Given the description of an element on the screen output the (x, y) to click on. 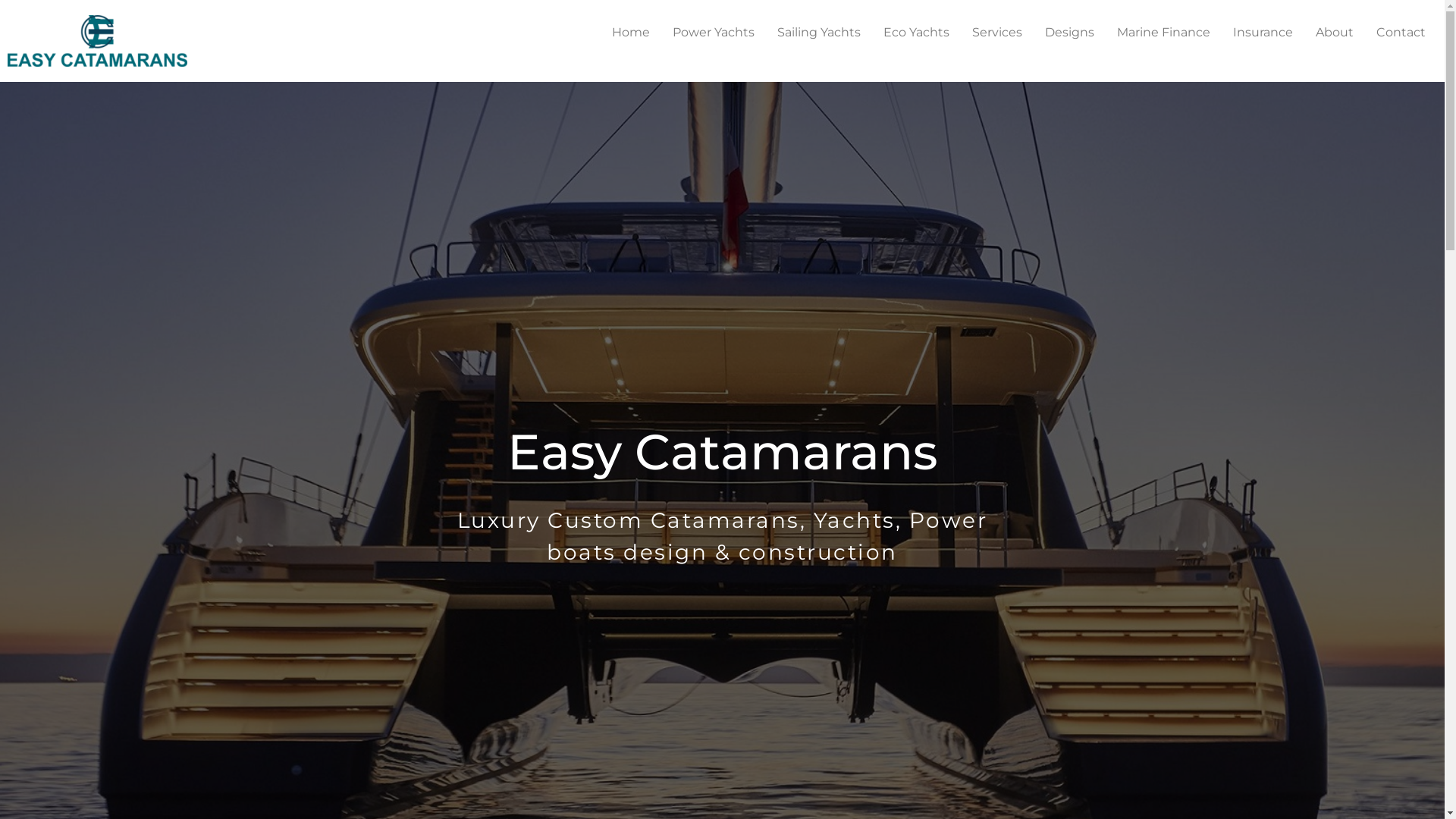
Marine Finance Element type: text (1163, 32)
Designs Element type: text (1069, 32)
Services Element type: text (996, 32)
Insurance Element type: text (1262, 32)
Home Element type: text (630, 32)
About Element type: text (1334, 32)
Sailing Yachts Element type: text (818, 32)
Eco Yachts Element type: text (916, 32)
Contact Element type: text (1401, 32)
Power Yachts Element type: text (713, 32)
